Given the description of an element on the screen output the (x, y) to click on. 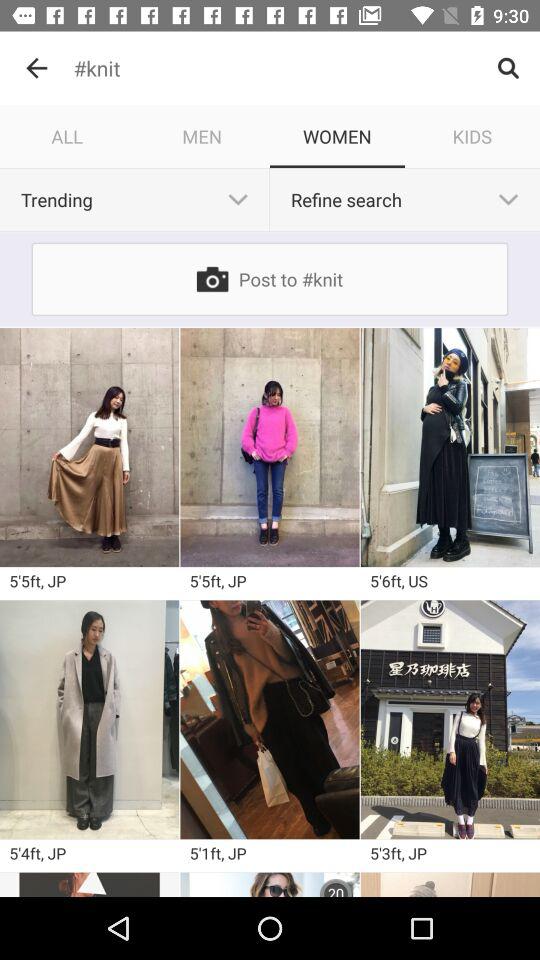
share the article (269, 884)
